Given the description of an element on the screen output the (x, y) to click on. 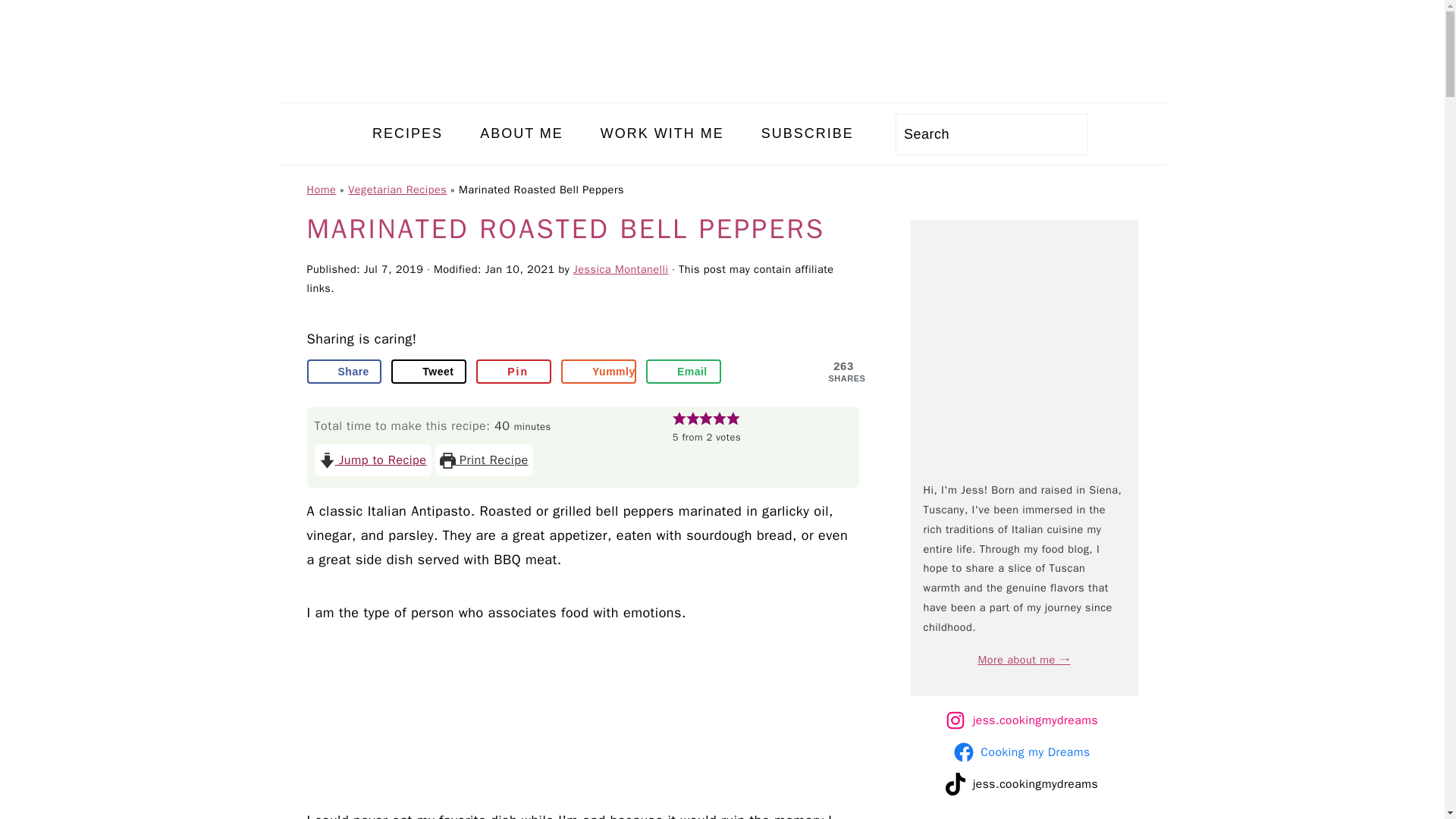
Vegetarian Recipes (396, 189)
Yummly (598, 371)
Cooking My Dreams (721, 89)
Pin (513, 371)
Email (683, 371)
Jessica Montanelli (620, 269)
Share on Yummly (598, 371)
Tweet (428, 371)
Share on X (428, 371)
Share (343, 371)
Share on Facebook (343, 371)
